Given the description of an element on the screen output the (x, y) to click on. 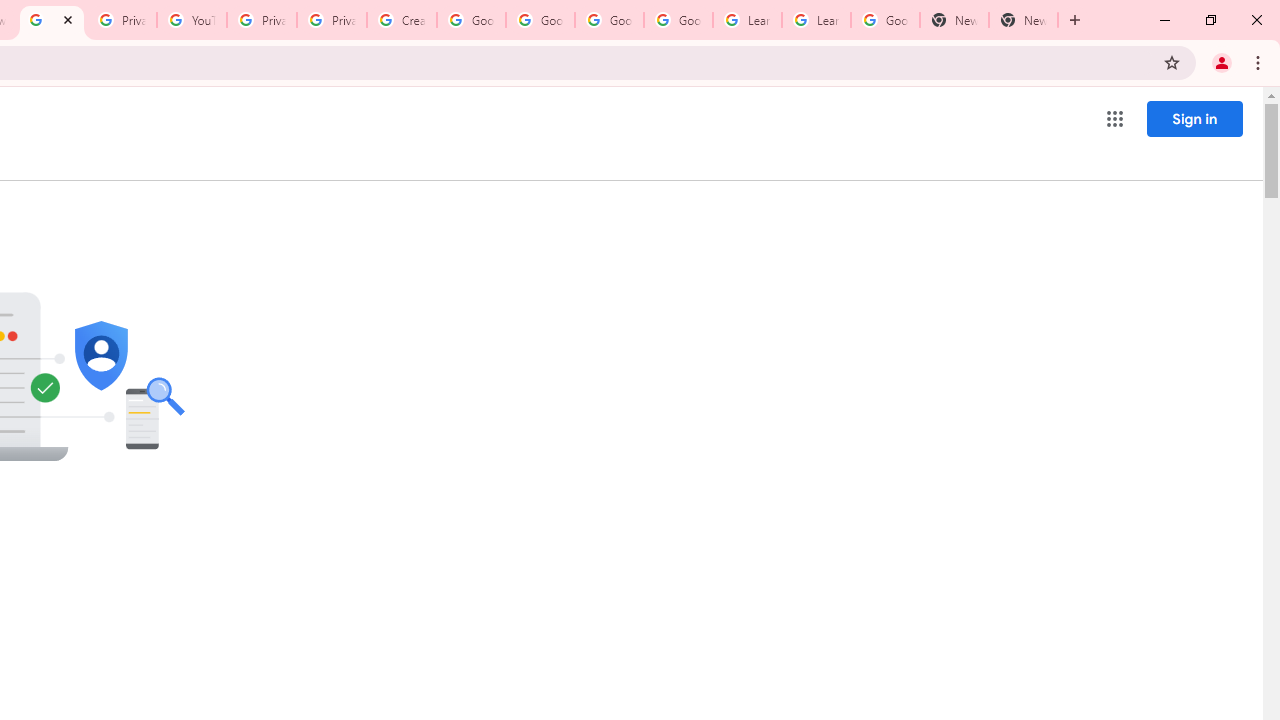
New Tab (954, 20)
Google Account Help (470, 20)
YouTube (191, 20)
